Given the description of an element on the screen output the (x, y) to click on. 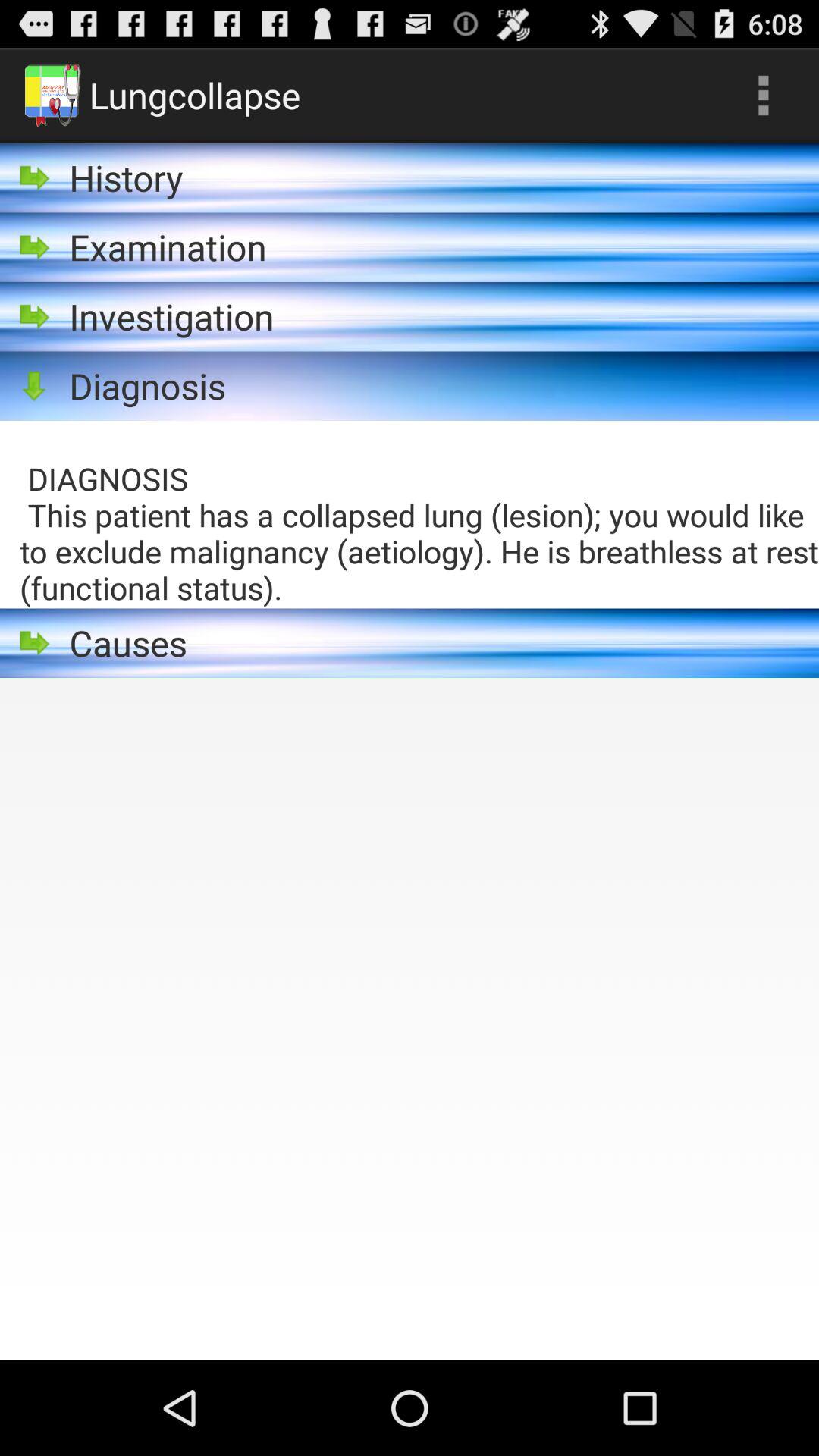
open icon to the right of lungcollapse item (763, 95)
